Given the description of an element on the screen output the (x, y) to click on. 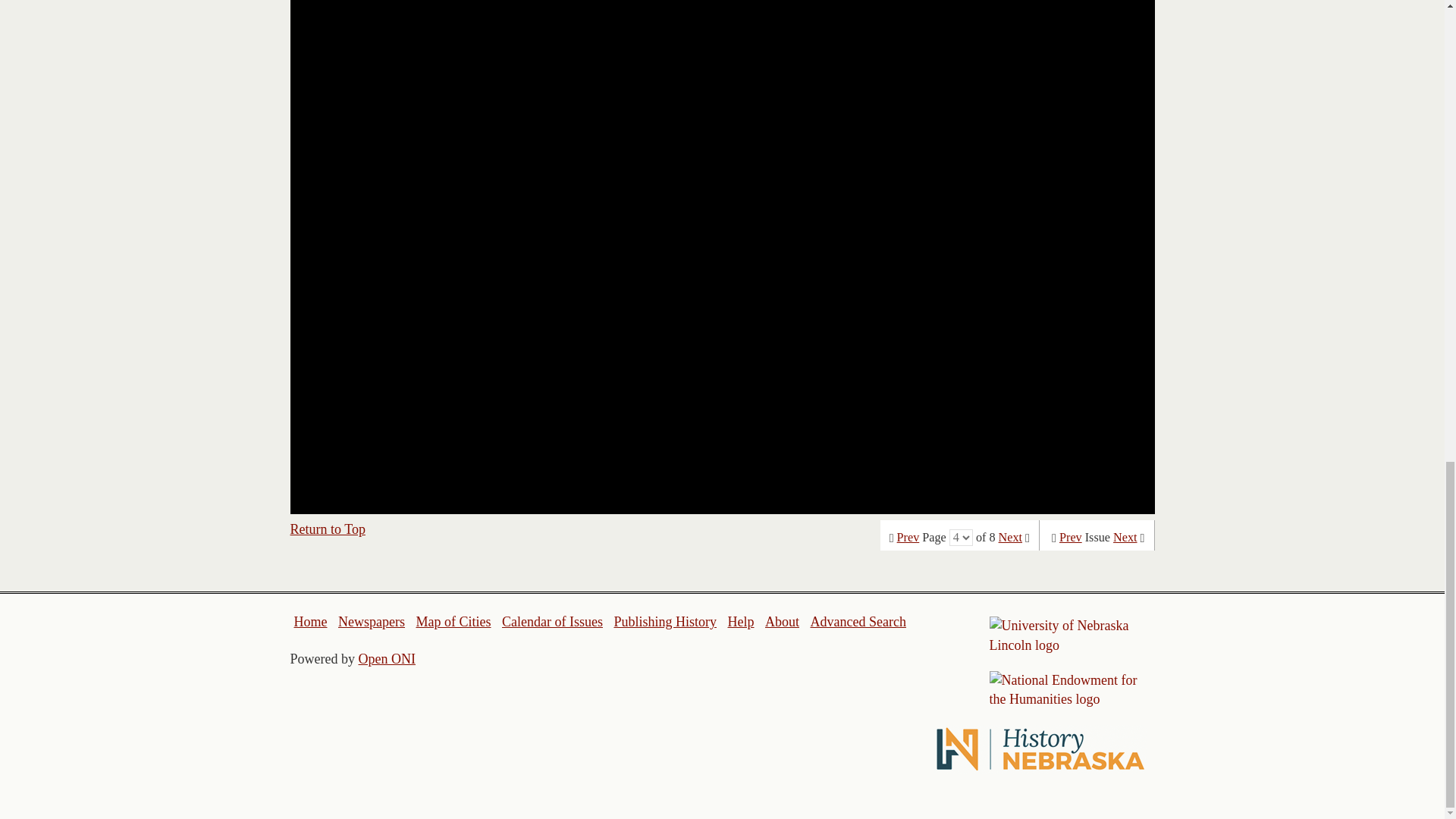
Help (740, 621)
Home (310, 621)
Next (1125, 537)
Prev (908, 537)
Return to Top (327, 529)
Map of Cities (452, 621)
Publishing History (664, 621)
Newspapers (370, 621)
Next (1010, 537)
About (782, 621)
Open ONI (386, 658)
Calendar of Issues (552, 621)
Prev (1070, 537)
Advanced Search (857, 621)
